Given the description of an element on the screen output the (x, y) to click on. 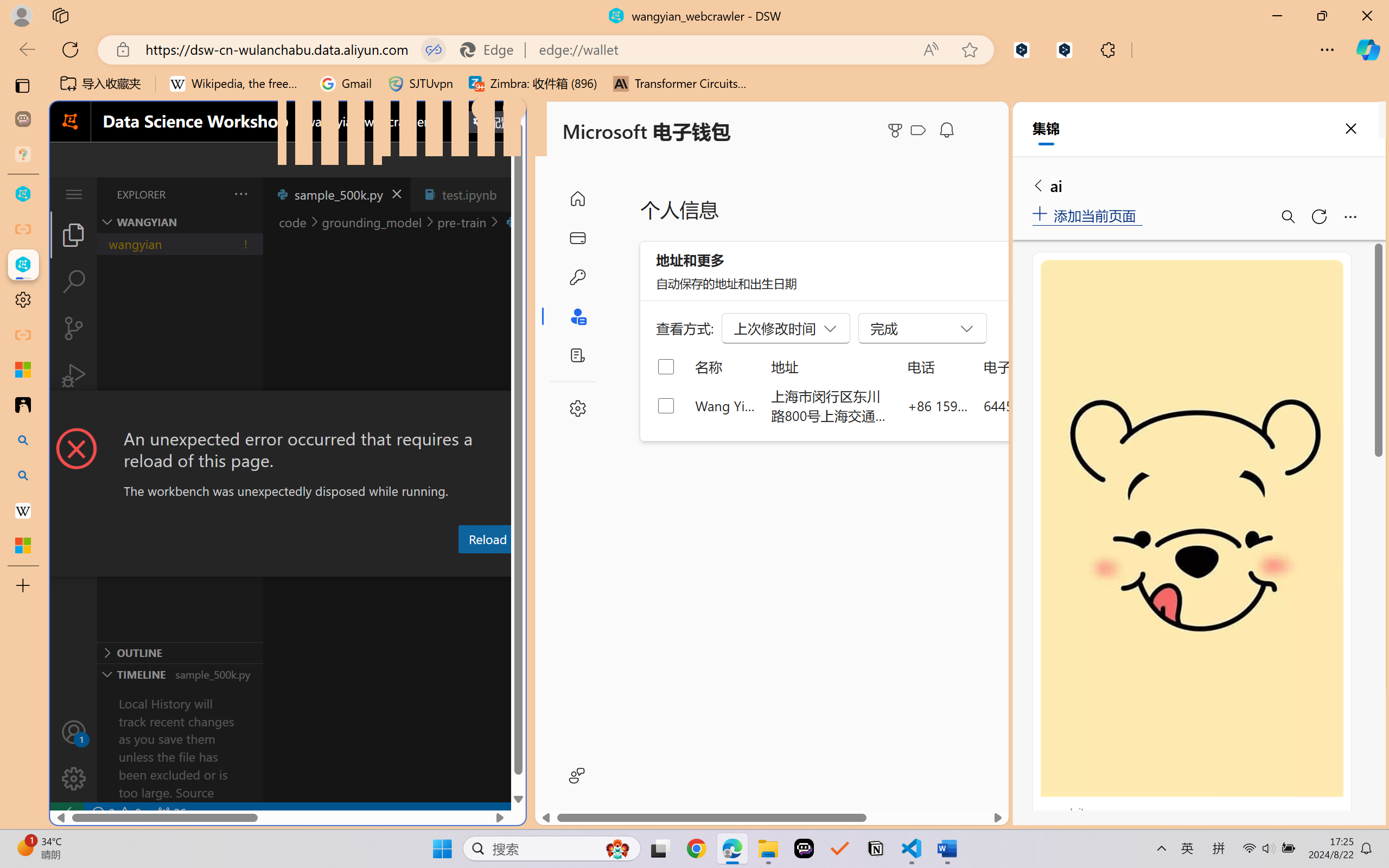
644553698@qq.com (1043, 405)
Output (Ctrl+Shift+U) (377, 565)
Search (Ctrl+Shift+F) (73, 281)
Close Dialog (520, 410)
Microsoft Rewards (896, 129)
Microsoft security help and learning (22, 369)
sample_500k.py (336, 194)
wangyian_dsw - DSW (22, 194)
